Given the description of an element on the screen output the (x, y) to click on. 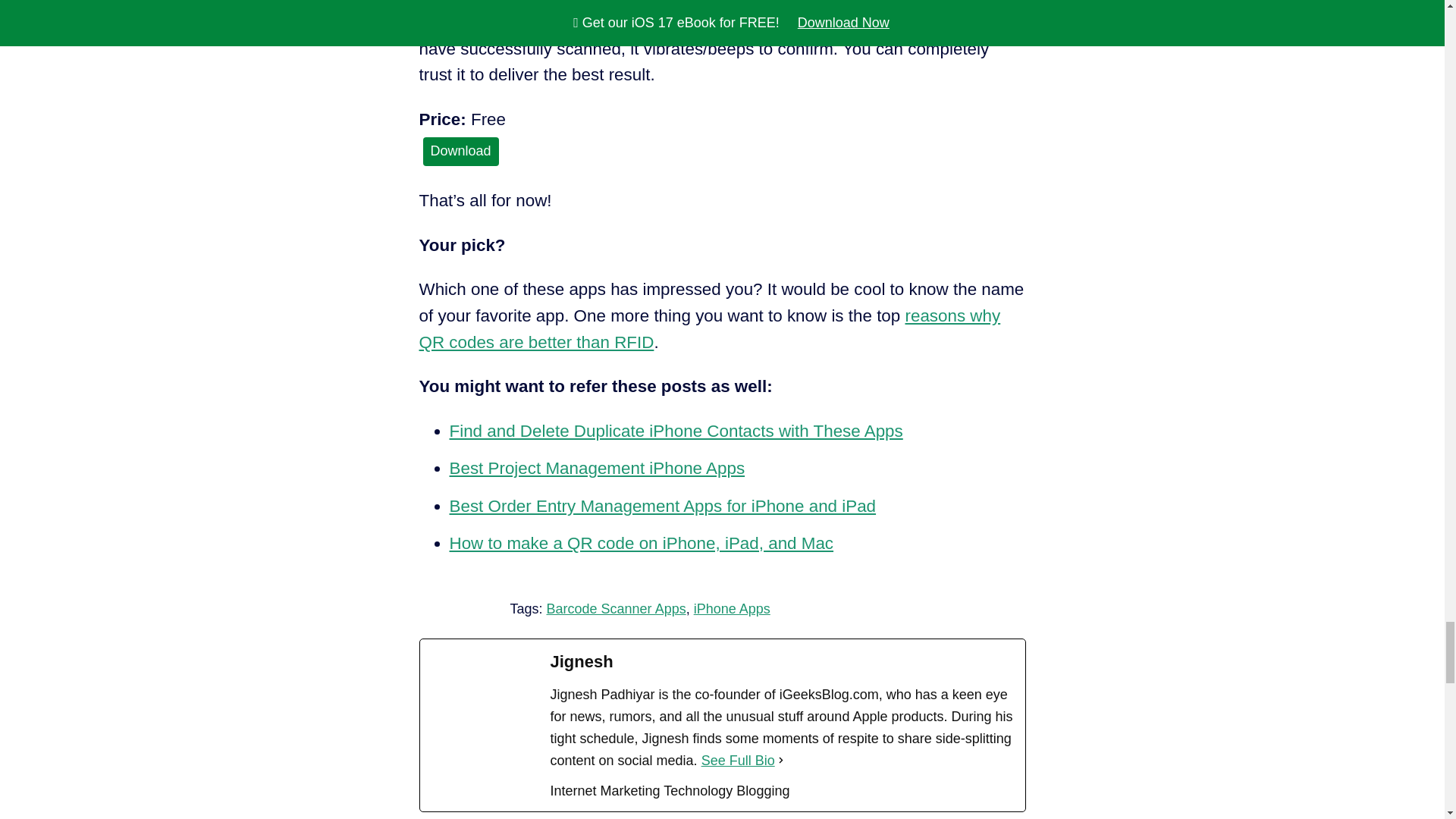
Find and Delete Duplicate iPhone Contacts with These Apps (675, 430)
reasons why QR codes are better than RFID (709, 329)
Barcode Scanner Apps (616, 608)
iPhone Apps (732, 608)
Best Order Entry Management Apps for iPhone and iPad (662, 505)
Best Project Management iPhone Apps (596, 467)
See Full Bio (737, 761)
Find and Delete Duplicate iPhone Contacts with These Apps (675, 430)
Download (461, 151)
How to make a QR code on iPhone, iPad, and Mac (640, 542)
